Given the description of an element on the screen output the (x, y) to click on. 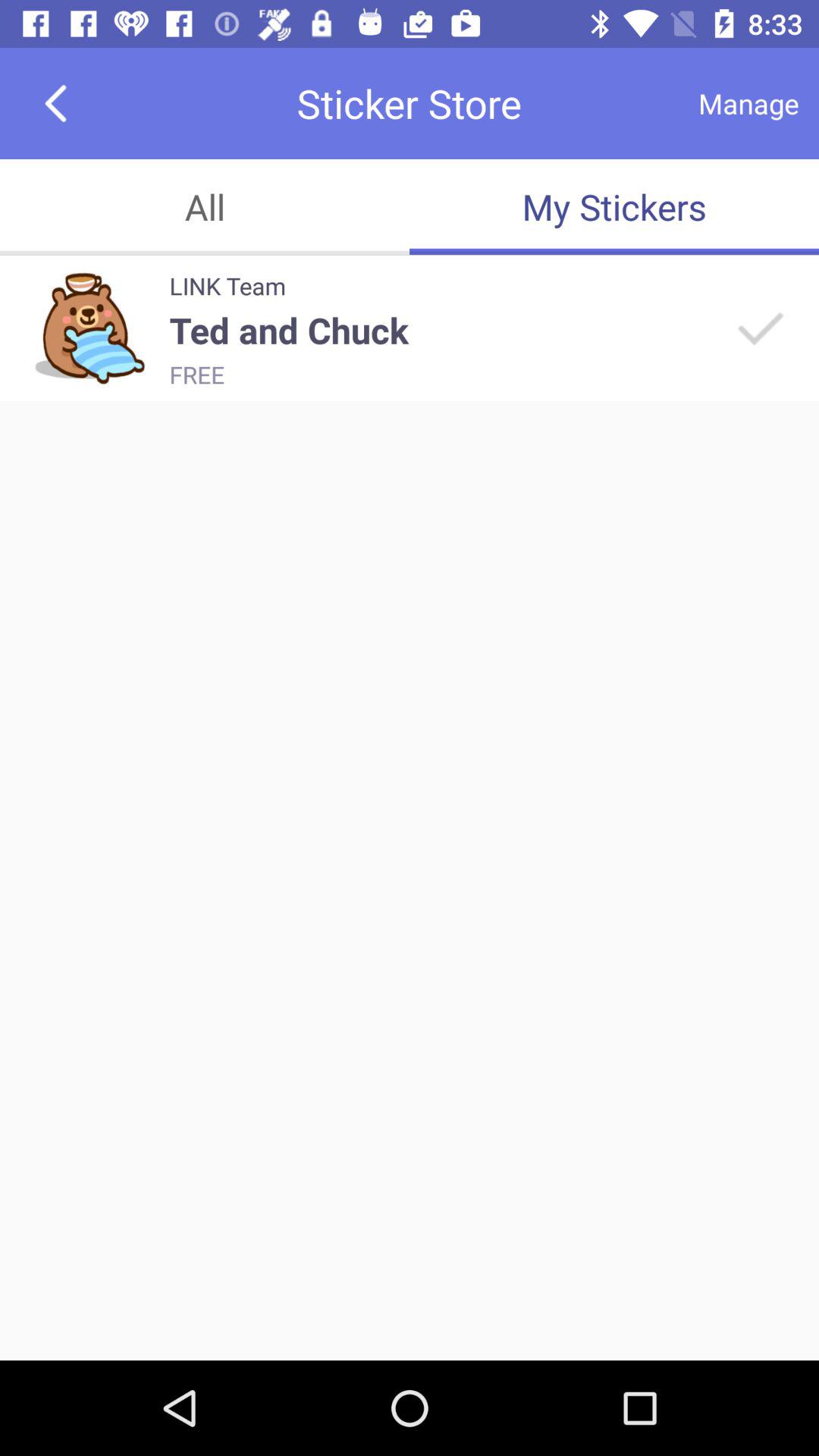
press item to the right of all item (614, 206)
